Given the description of an element on the screen output the (x, y) to click on. 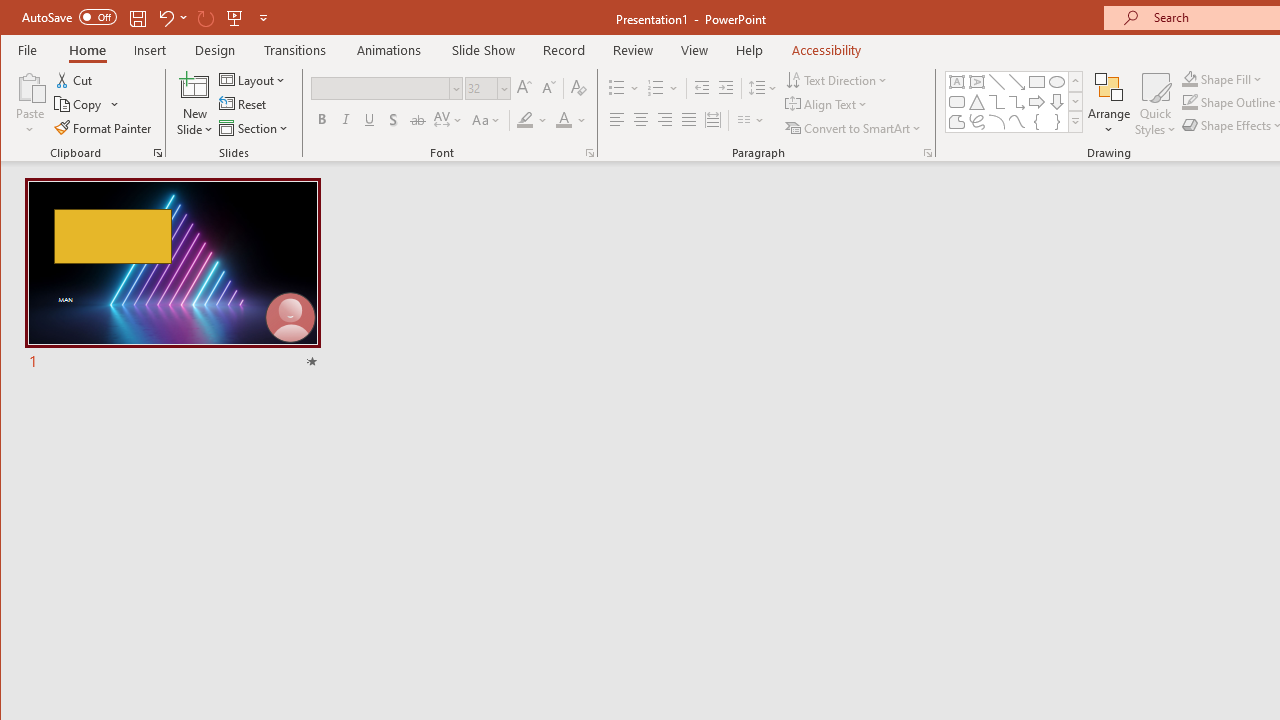
Connector: Elbow (996, 102)
Slide (172, 276)
Align Text (828, 103)
Insert (150, 50)
Quick Styles (1155, 104)
Font (380, 88)
Row Down (1074, 101)
Character Spacing (449, 119)
Line Spacing (764, 88)
Columns (751, 119)
Row up (1074, 81)
Copy (79, 103)
Bullets (616, 88)
System (18, 18)
Arrow: Down (1057, 102)
